Given the description of an element on the screen output the (x, y) to click on. 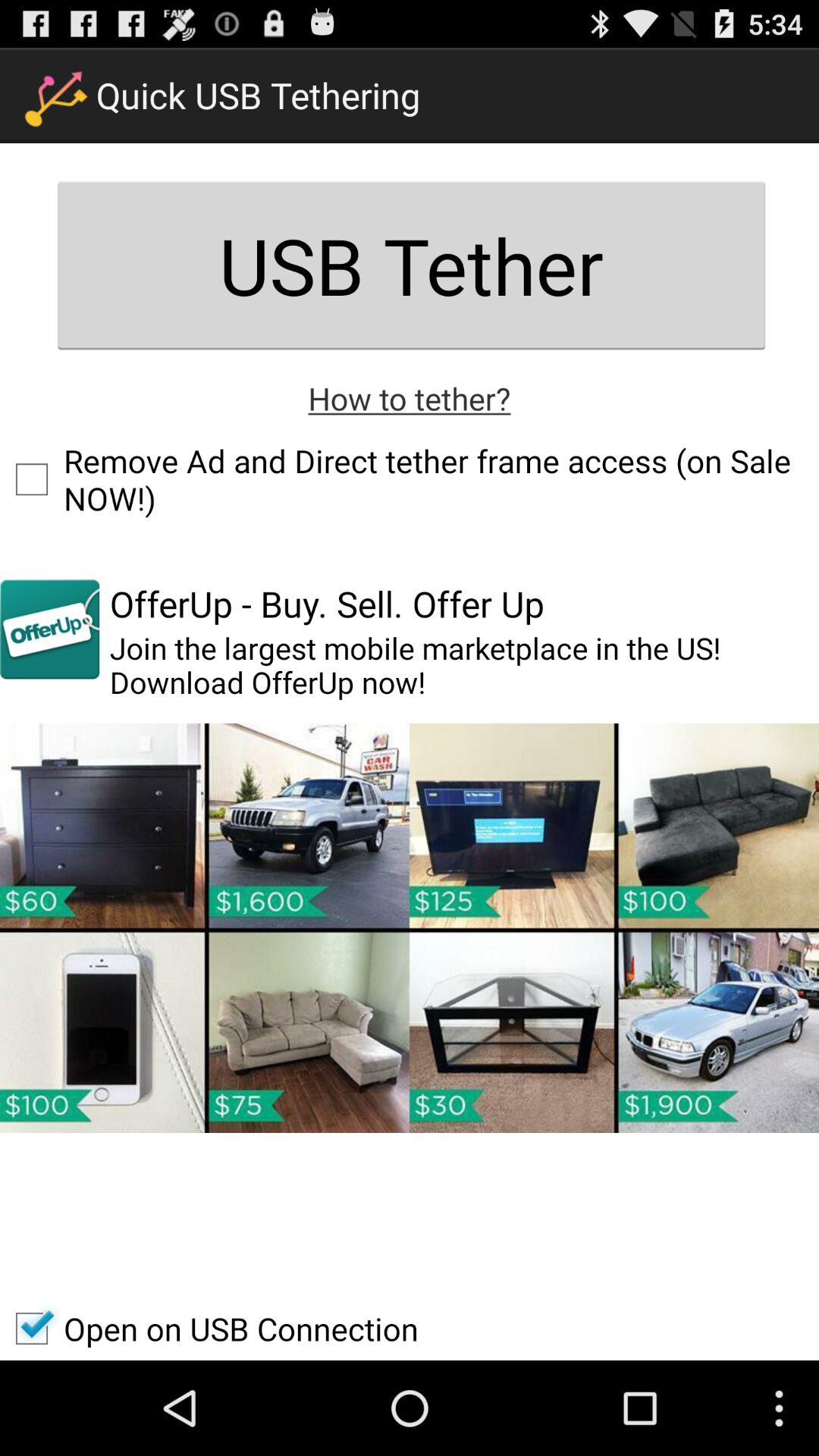
select the item above the how to tether? icon (411, 265)
